Given the description of an element on the screen output the (x, y) to click on. 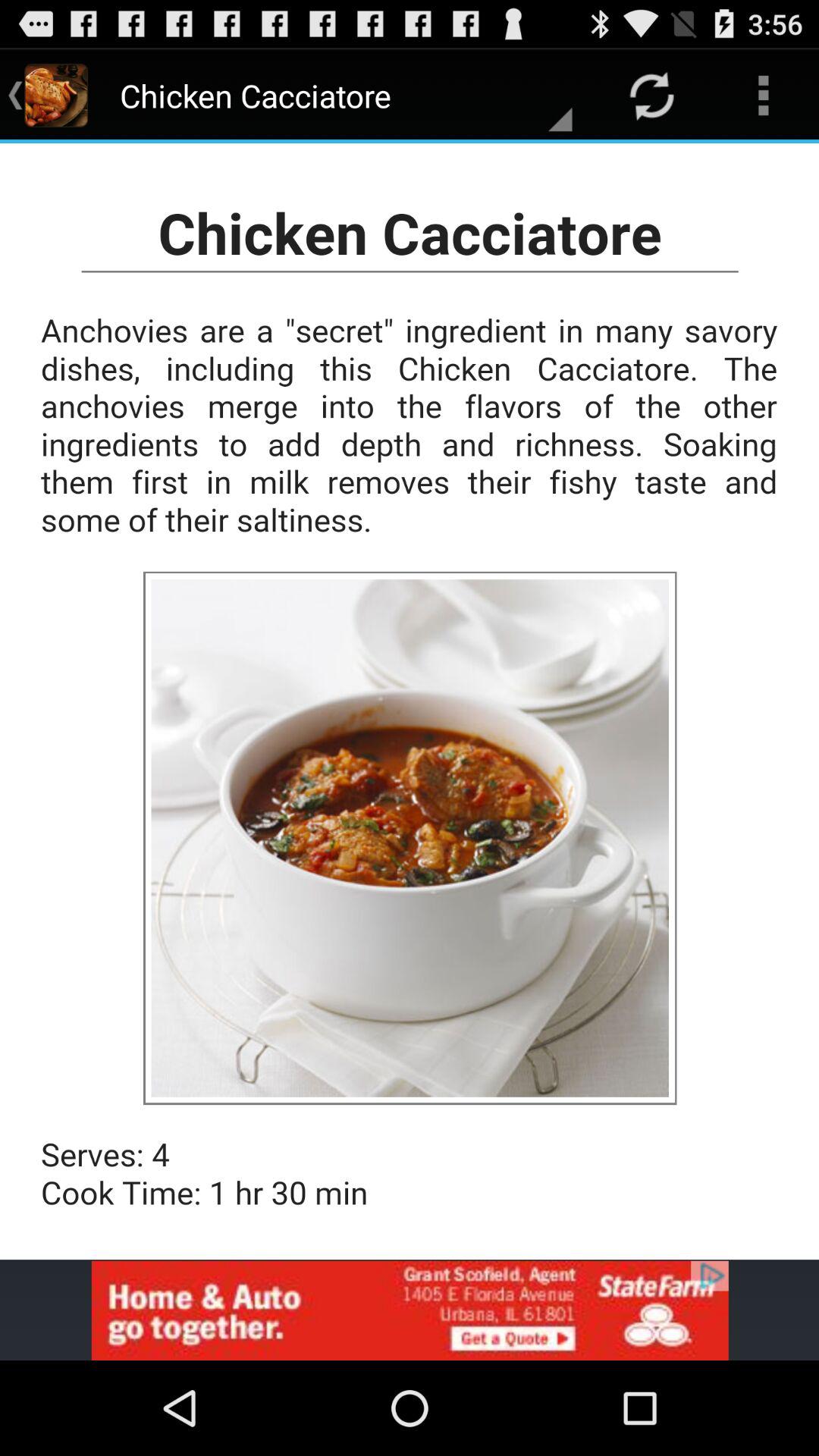
page information (409, 701)
